Given the description of an element on the screen output the (x, y) to click on. 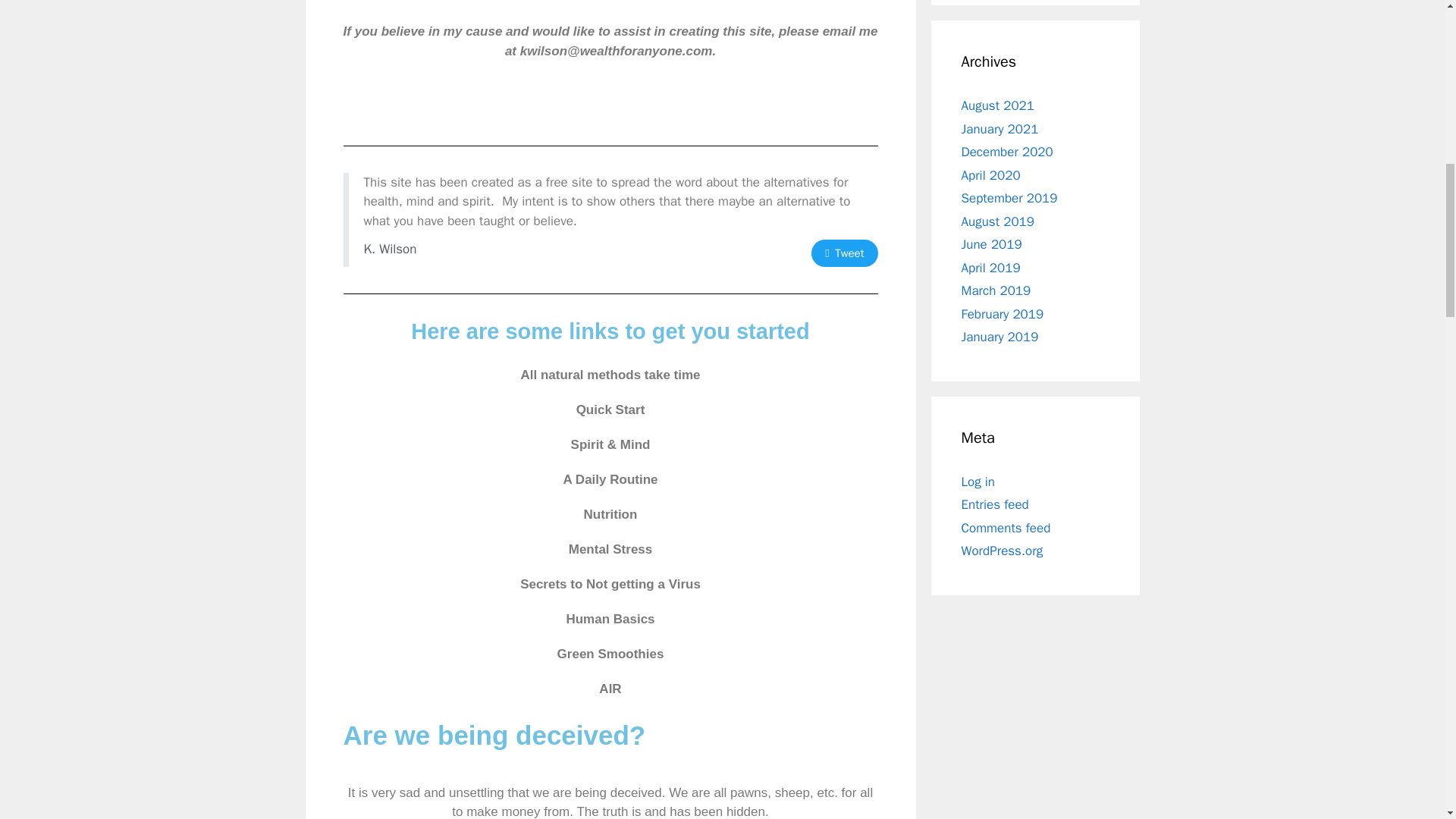
Nutrition (609, 514)
Scroll back to top (1406, 720)
A Daily Routine (609, 479)
Secrets to Not getting a Virus (609, 584)
All natural methods take time (609, 375)
Mental Stress (609, 549)
Human Basics (609, 619)
Green Smoothies (609, 654)
Quick Start (609, 410)
Tweet (843, 252)
AIR (609, 688)
